Given the description of an element on the screen output the (x, y) to click on. 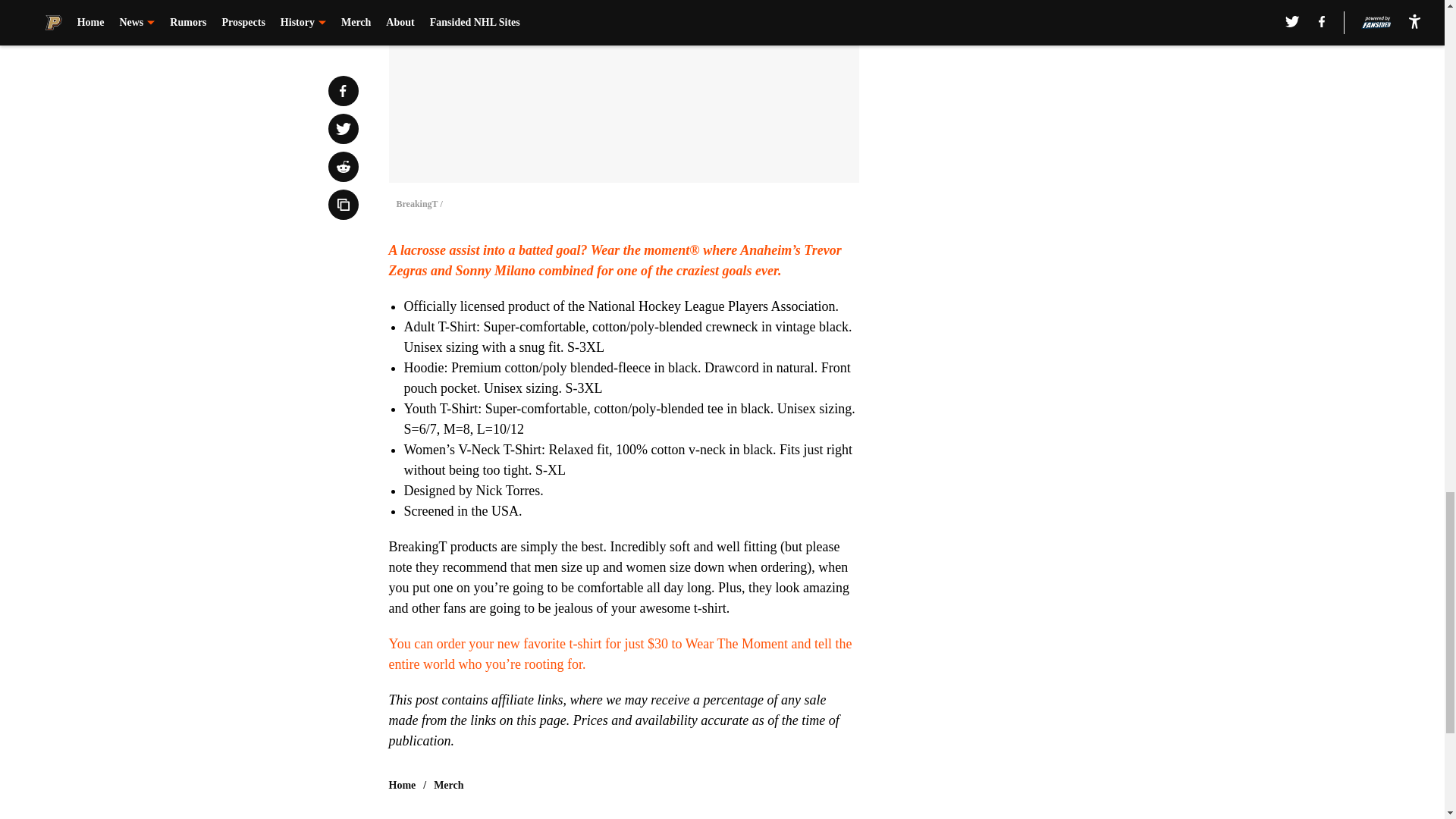
Home (401, 785)
Merch (448, 785)
